Given the description of an element on the screen output the (x, y) to click on. 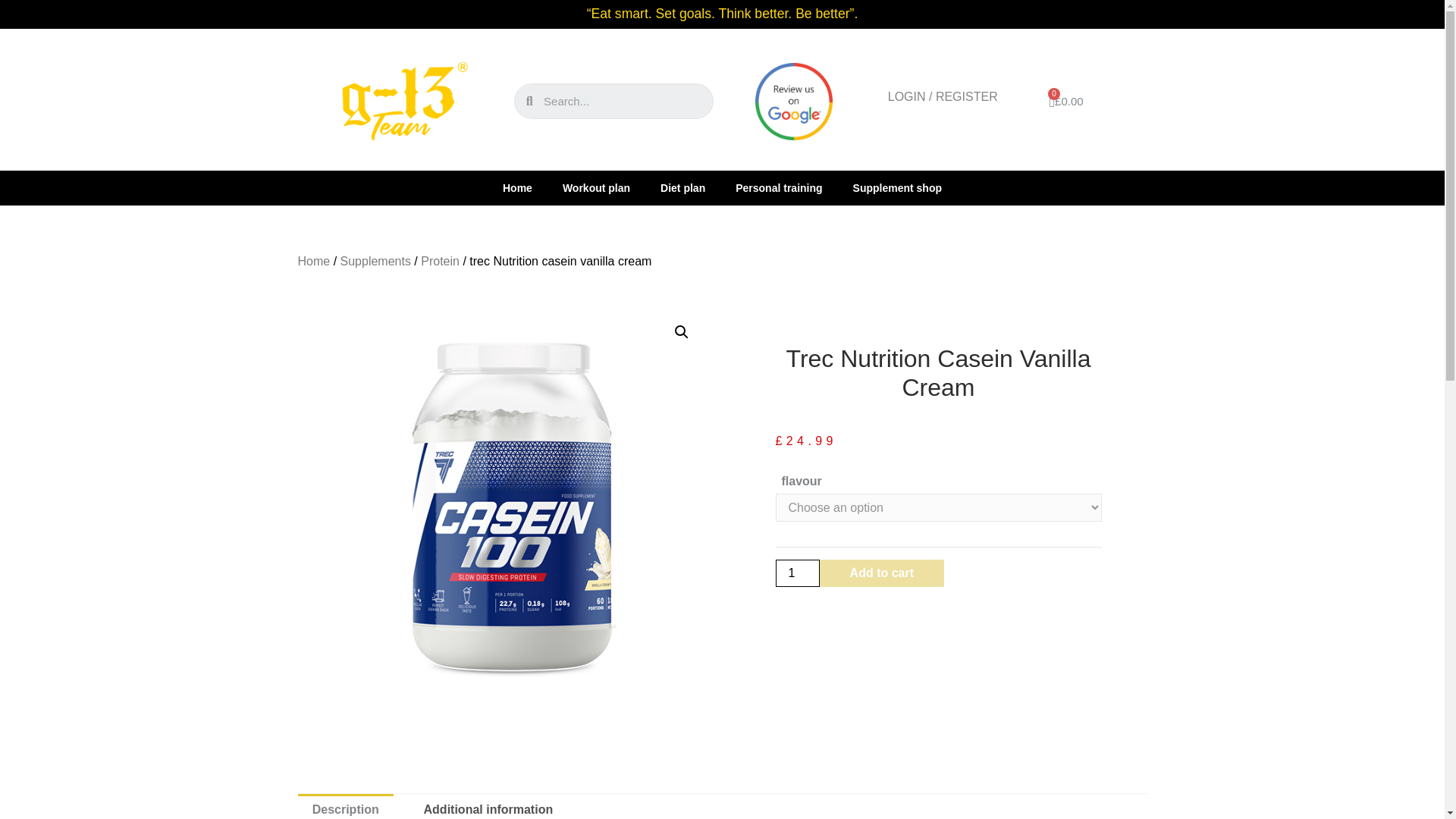
Personal training (778, 187)
Supplement shop (897, 187)
Protein (440, 260)
Add to cart (881, 573)
Search (622, 101)
Additional information (488, 806)
Diet plan (682, 187)
Description (345, 806)
Home (517, 187)
Workout plan (596, 187)
Home (313, 260)
Qty (796, 573)
1 (796, 573)
Supplements (375, 260)
